Given the description of an element on the screen output the (x, y) to click on. 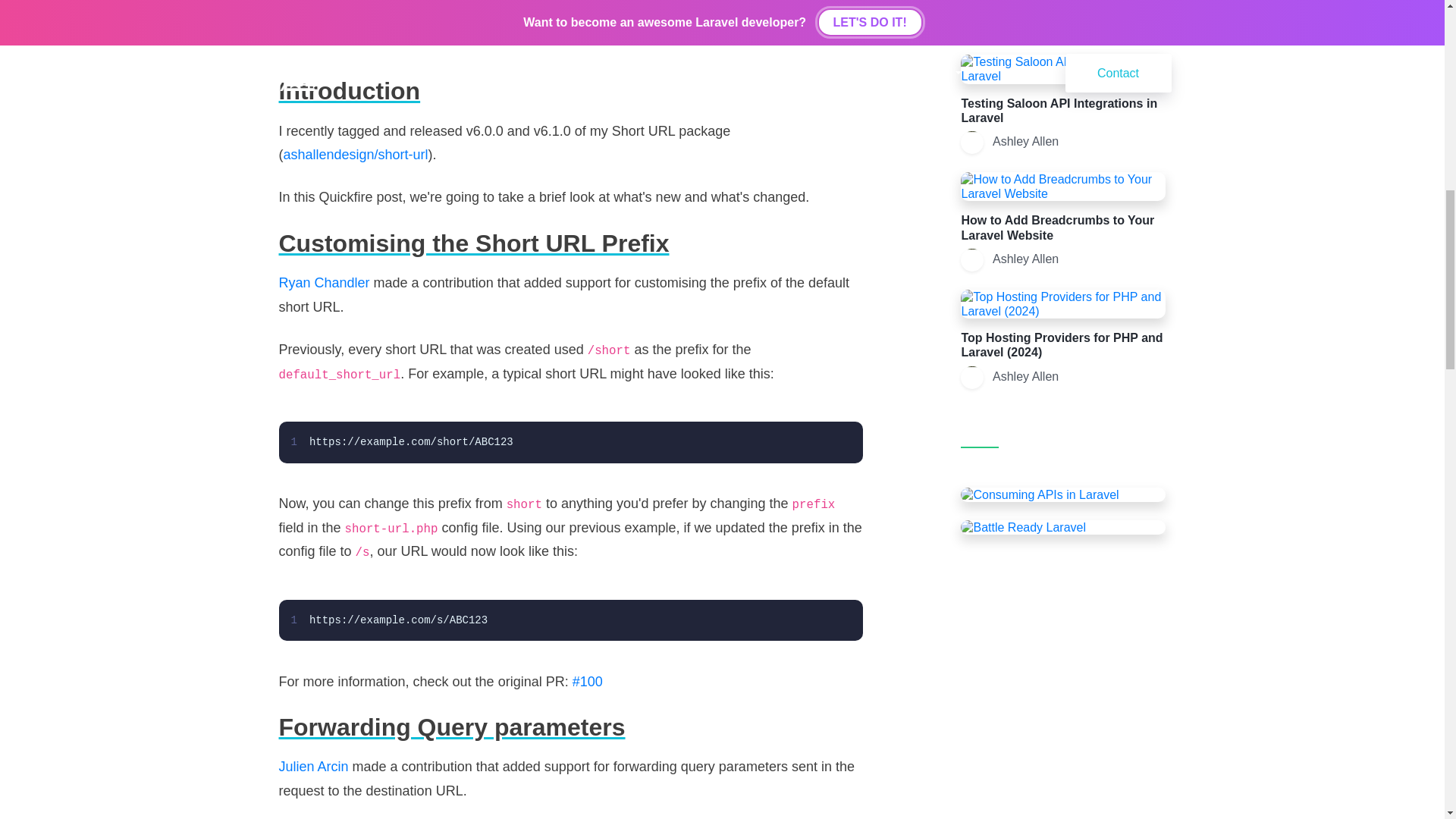
How to Add Breadcrumbs to Your Laravel Website (1057, 226)
Testing Saloon API Integrations in Laravel (1058, 110)
Julien Arcin (314, 766)
Ryan Chandler (324, 282)
